Given the description of an element on the screen output the (x, y) to click on. 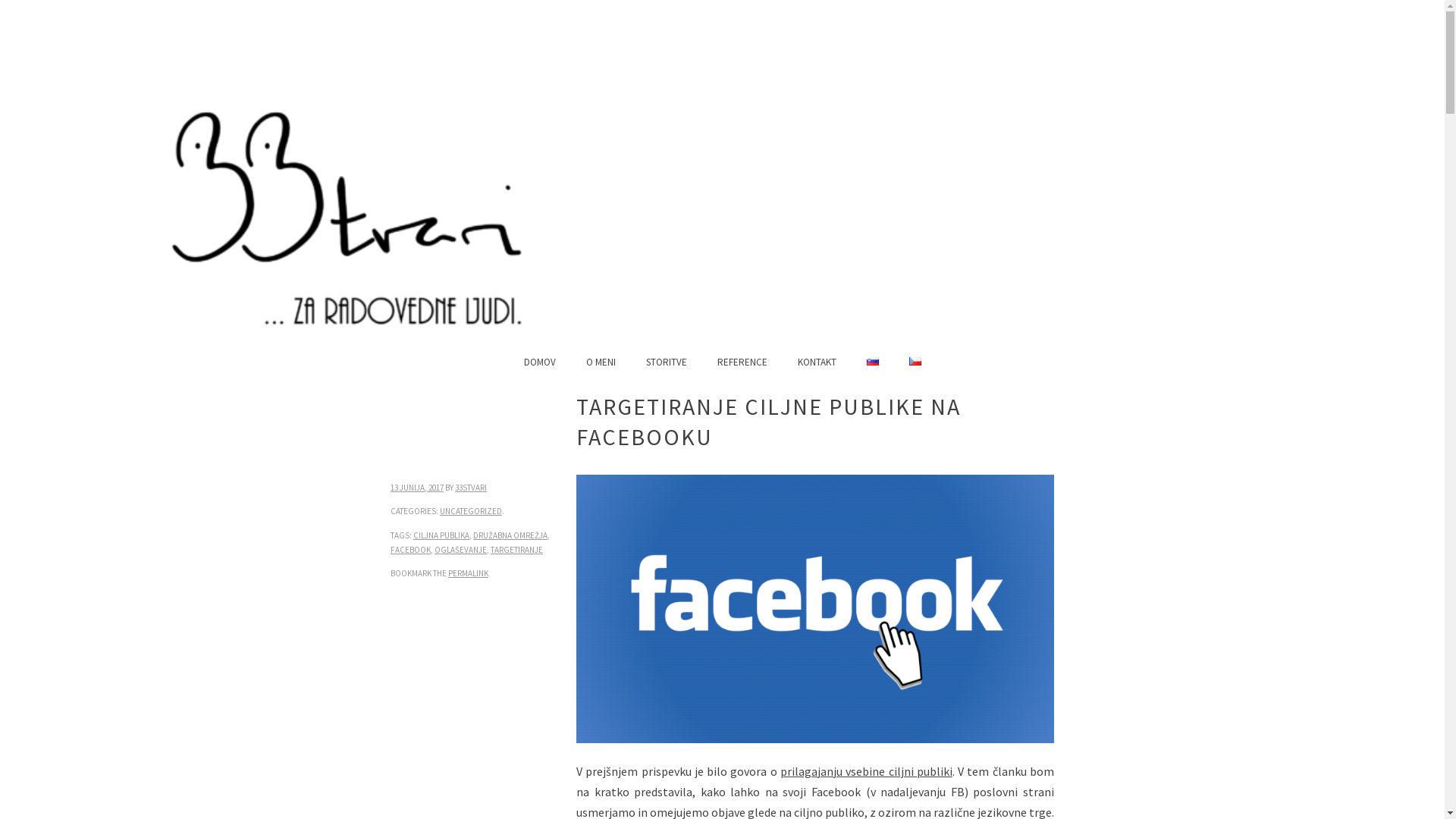
13 JUNIJA, 2017 Element type: text (416, 487)
33 STVARI Element type: text (200, 277)
FACEBOOK Element type: text (410, 549)
CILJNA PUBLIKA Element type: text (441, 535)
REFERENCE Element type: text (742, 360)
PERMALINK Element type: text (468, 572)
SKIP TO CONTENT Element type: text (367, 360)
TARGETIRANJE Element type: text (516, 549)
KONTAKT Element type: text (816, 360)
UNCATEGORIZED Element type: text (470, 510)
STORITVE Element type: text (666, 360)
prilagajanju vsebine ciljni publiki Element type: text (866, 770)
O MENI Element type: text (600, 360)
33STVARI Element type: text (470, 487)
DOMOV Element type: text (539, 360)
